Given the description of an element on the screen output the (x, y) to click on. 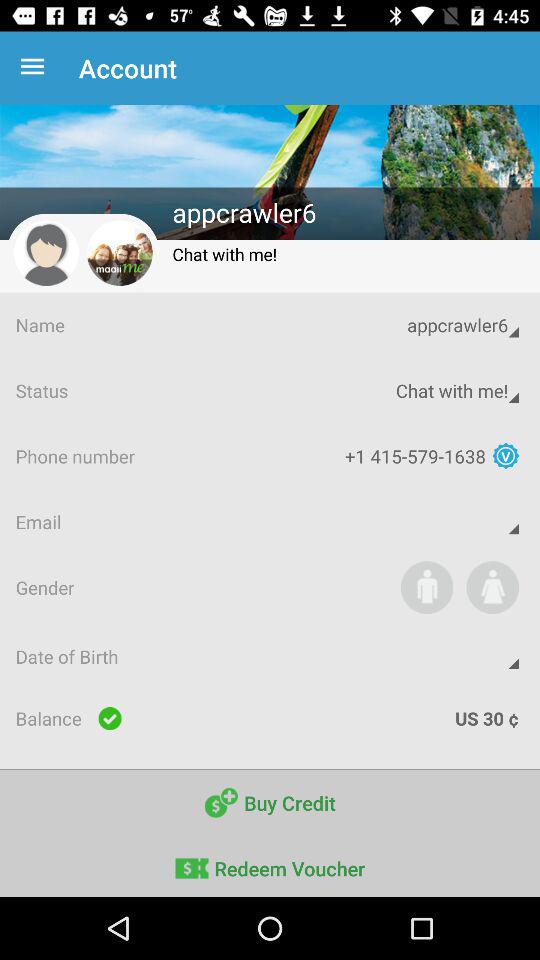
set your gender to female (492, 587)
